Given the description of an element on the screen output the (x, y) to click on. 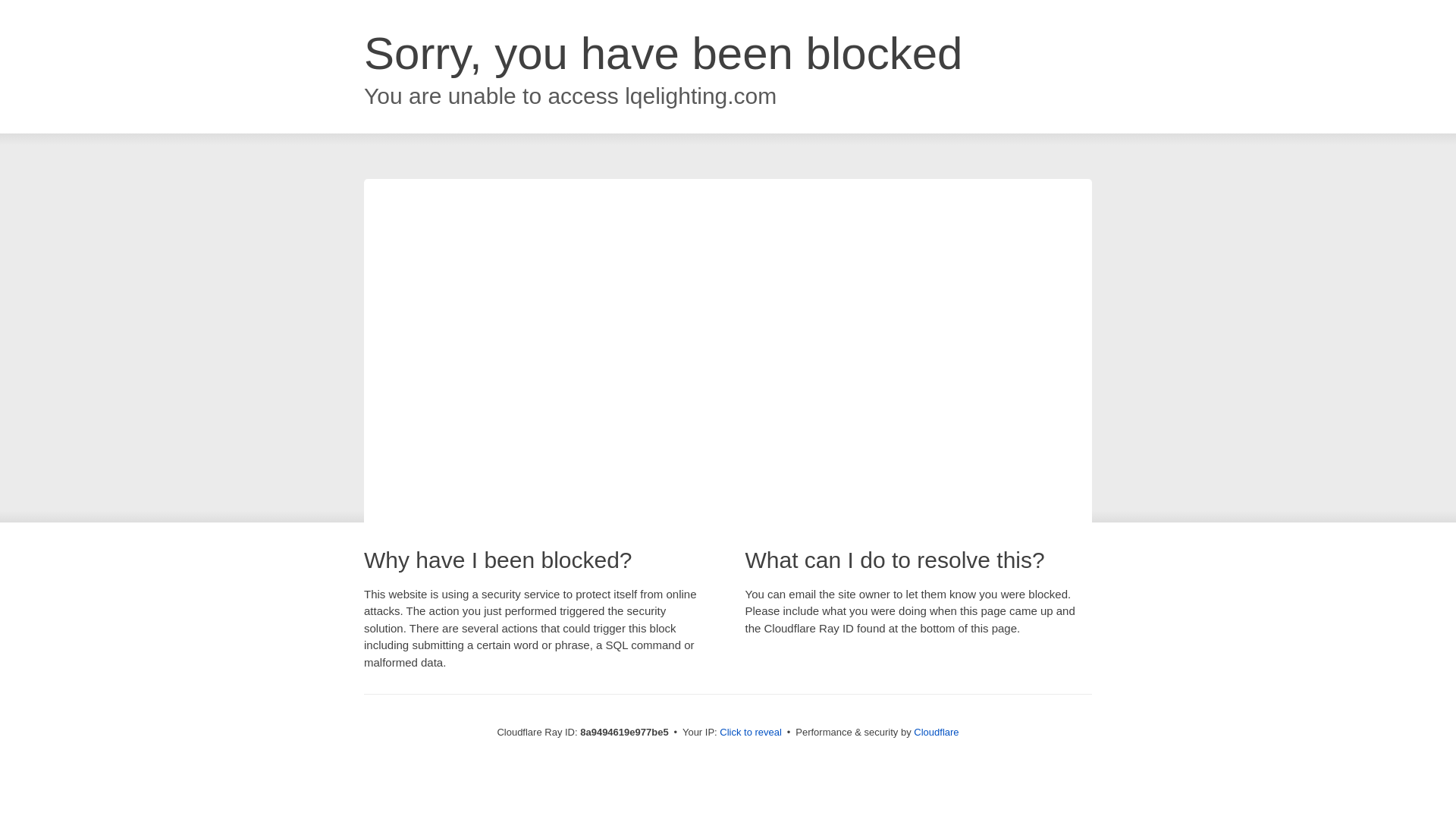
Cloudflare (936, 731)
Click to reveal (750, 732)
